Given the description of an element on the screen output the (x, y) to click on. 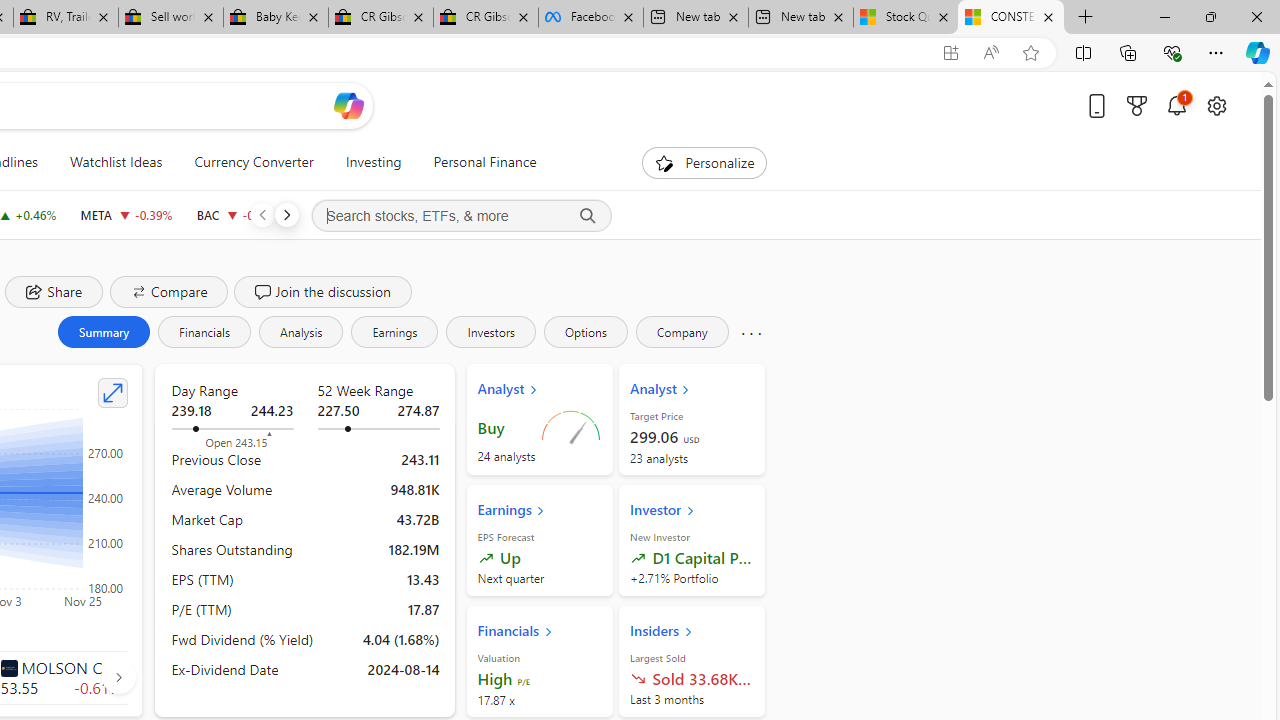
App available. Install Start Money (950, 53)
Investing (373, 162)
BAC BANK OF AMERICA CORPORATION decrease 39.67 -0.25 -0.63% (238, 214)
Investing (373, 162)
AutomationID: finance_carousel_navi_arrow (118, 676)
